Given the description of an element on the screen output the (x, y) to click on. 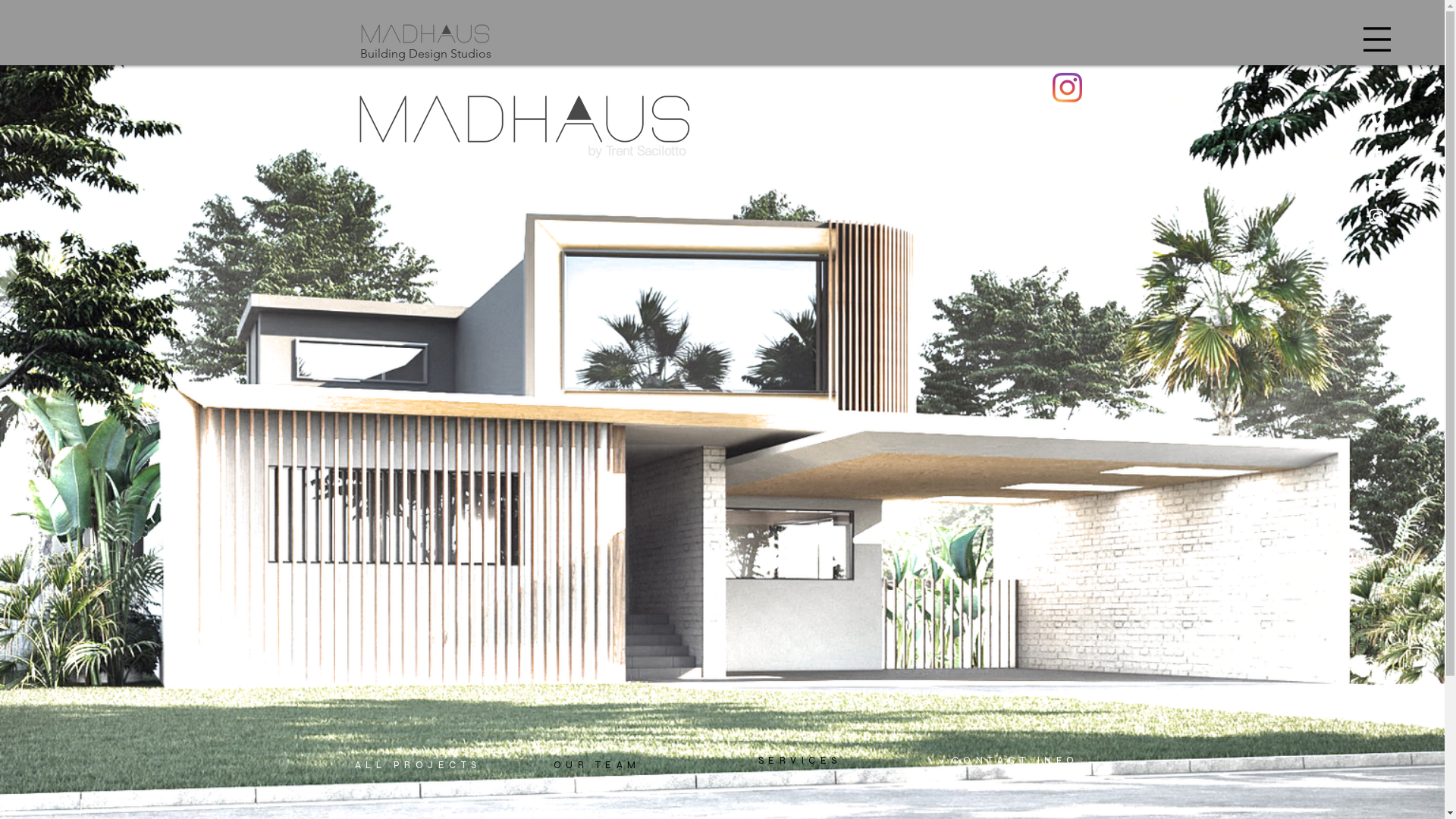
SERVICES Element type: text (799, 760)
OUR TEAM Element type: text (596, 765)
CONTACT INFO Element type: text (1014, 760)
ALL PROJECTS Element type: text (417, 765)
